Given the description of an element on the screen output the (x, y) to click on. 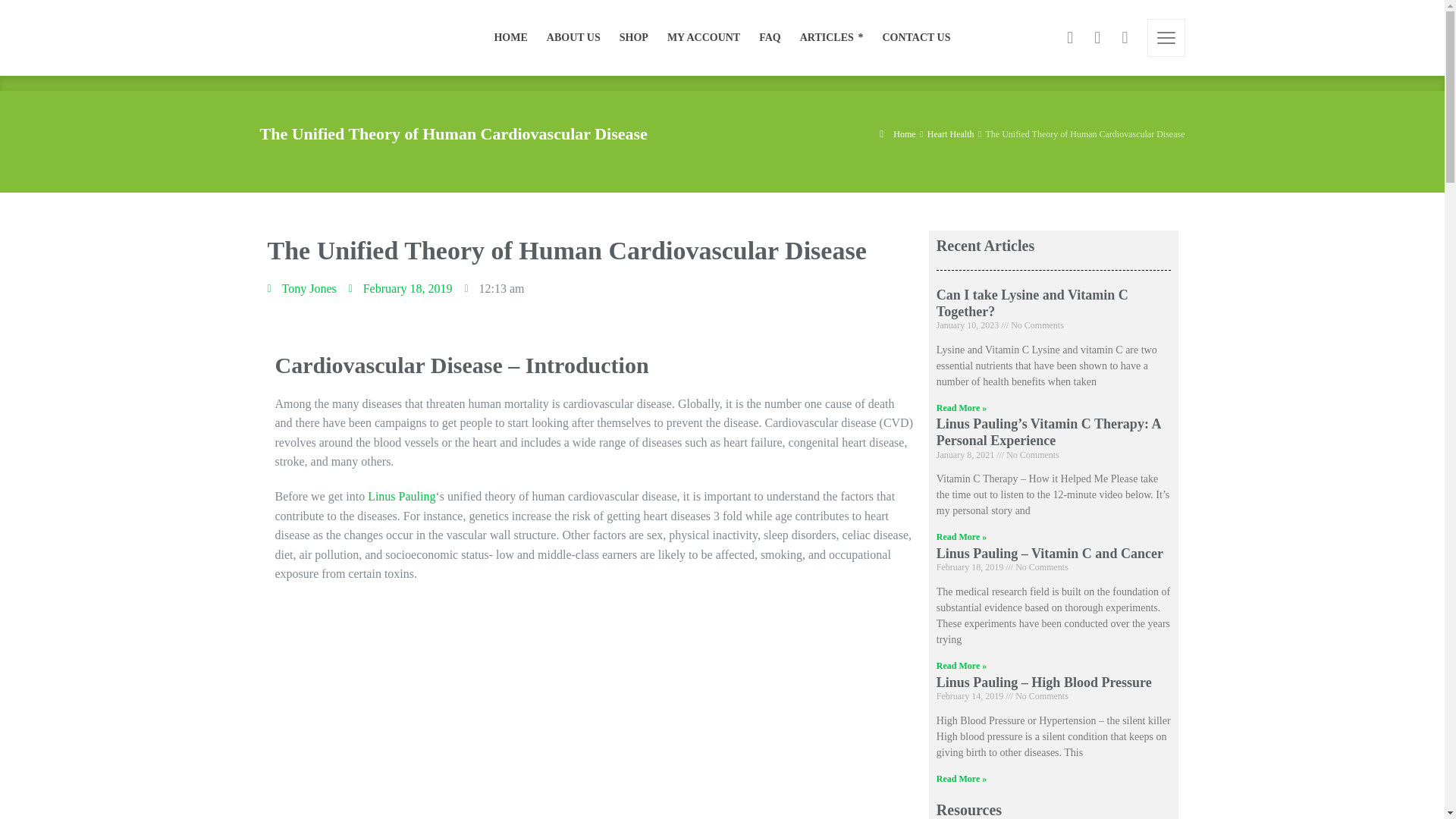
ARTICLES (831, 37)
Side Panel (1166, 37)
Home (897, 133)
CONTACT US (911, 37)
SHOP (634, 37)
ABOUT US (573, 37)
OptimaEarth Labs (298, 37)
MY ACCOUNT (703, 37)
